Given the description of an element on the screen output the (x, y) to click on. 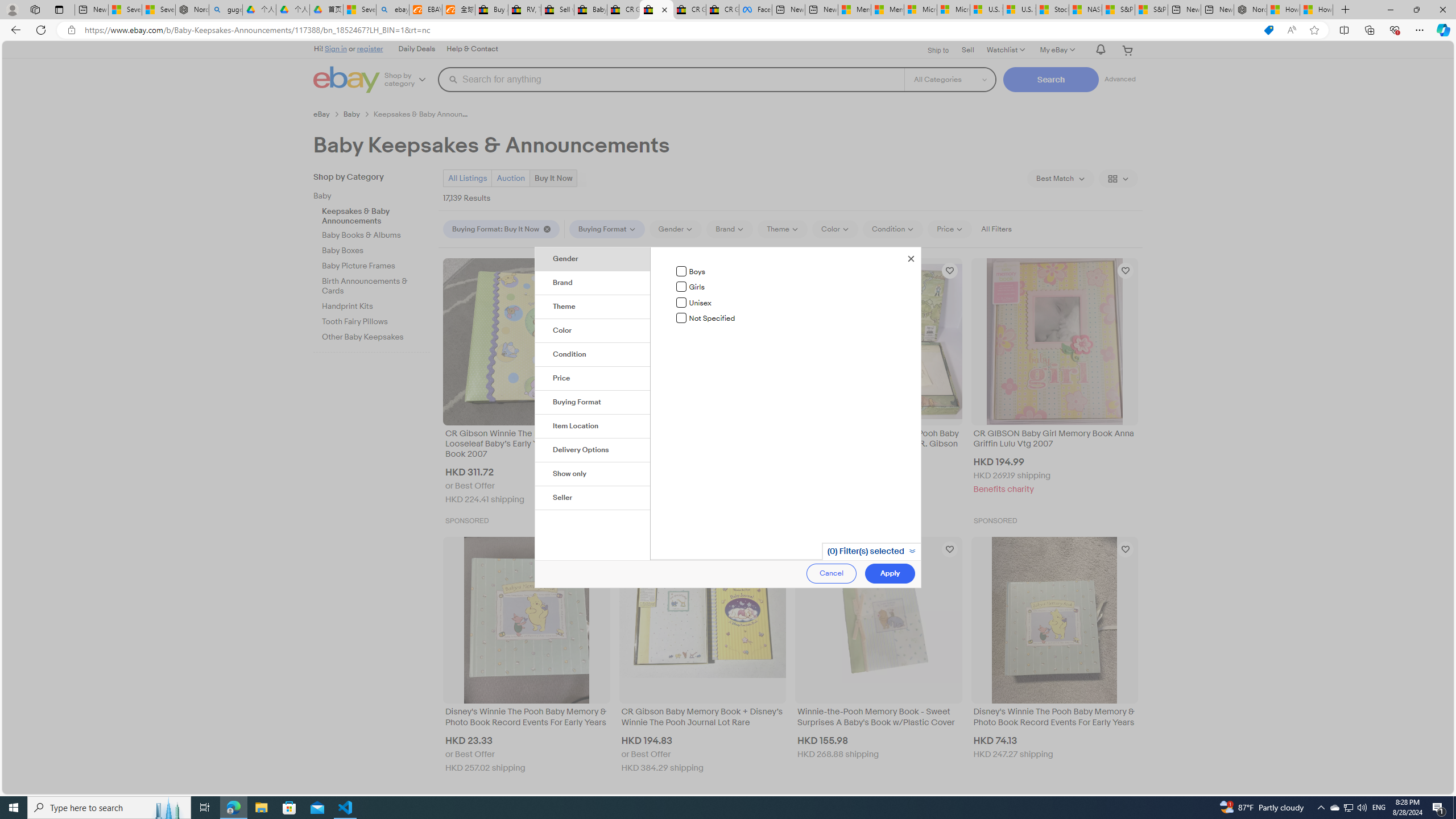
Unisex (681, 301)
Restore (1416, 9)
